Given the description of an element on the screen output the (x, y) to click on. 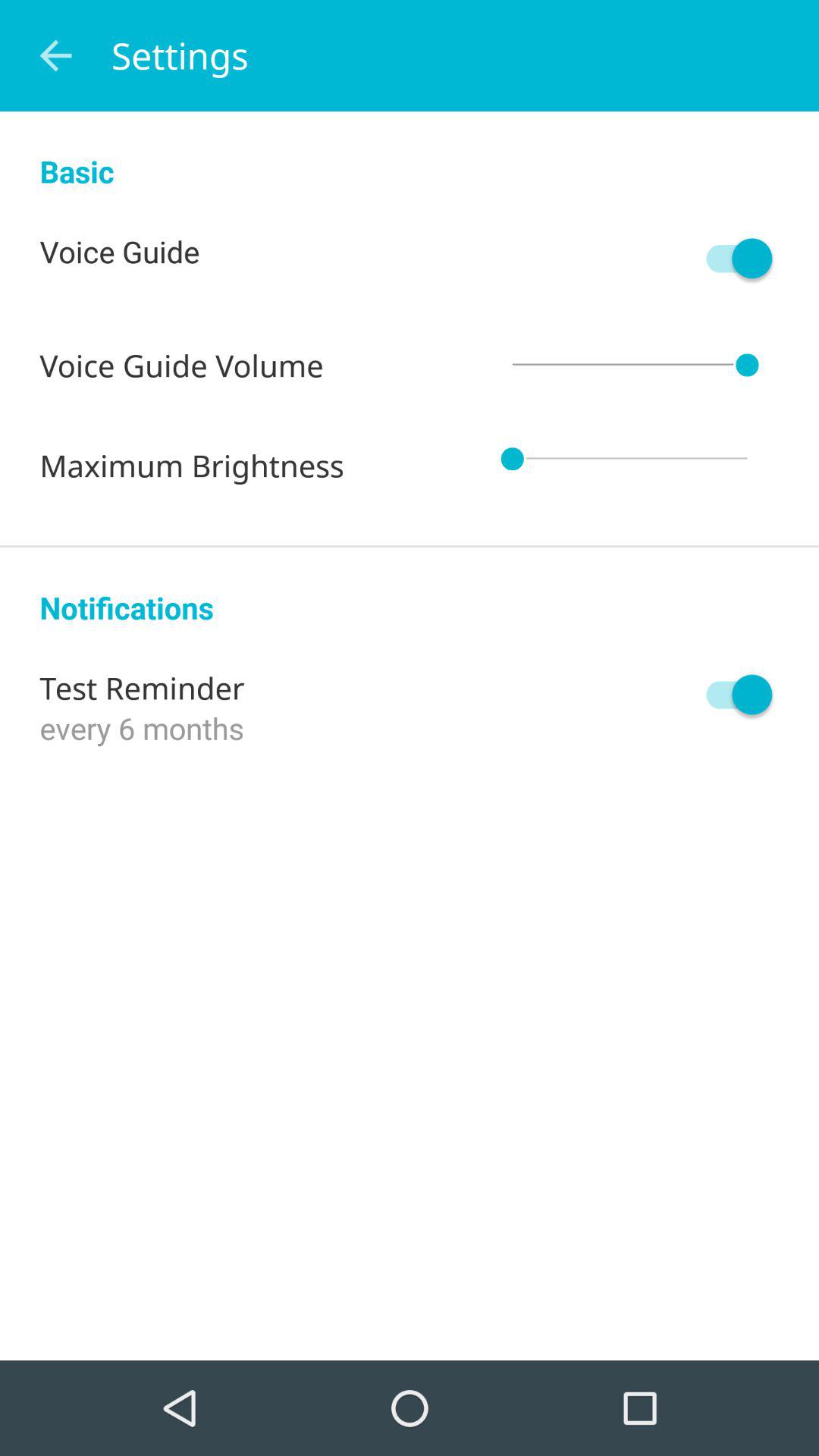
toggle voice guide on/off (731, 258)
